Given the description of an element on the screen output the (x, y) to click on. 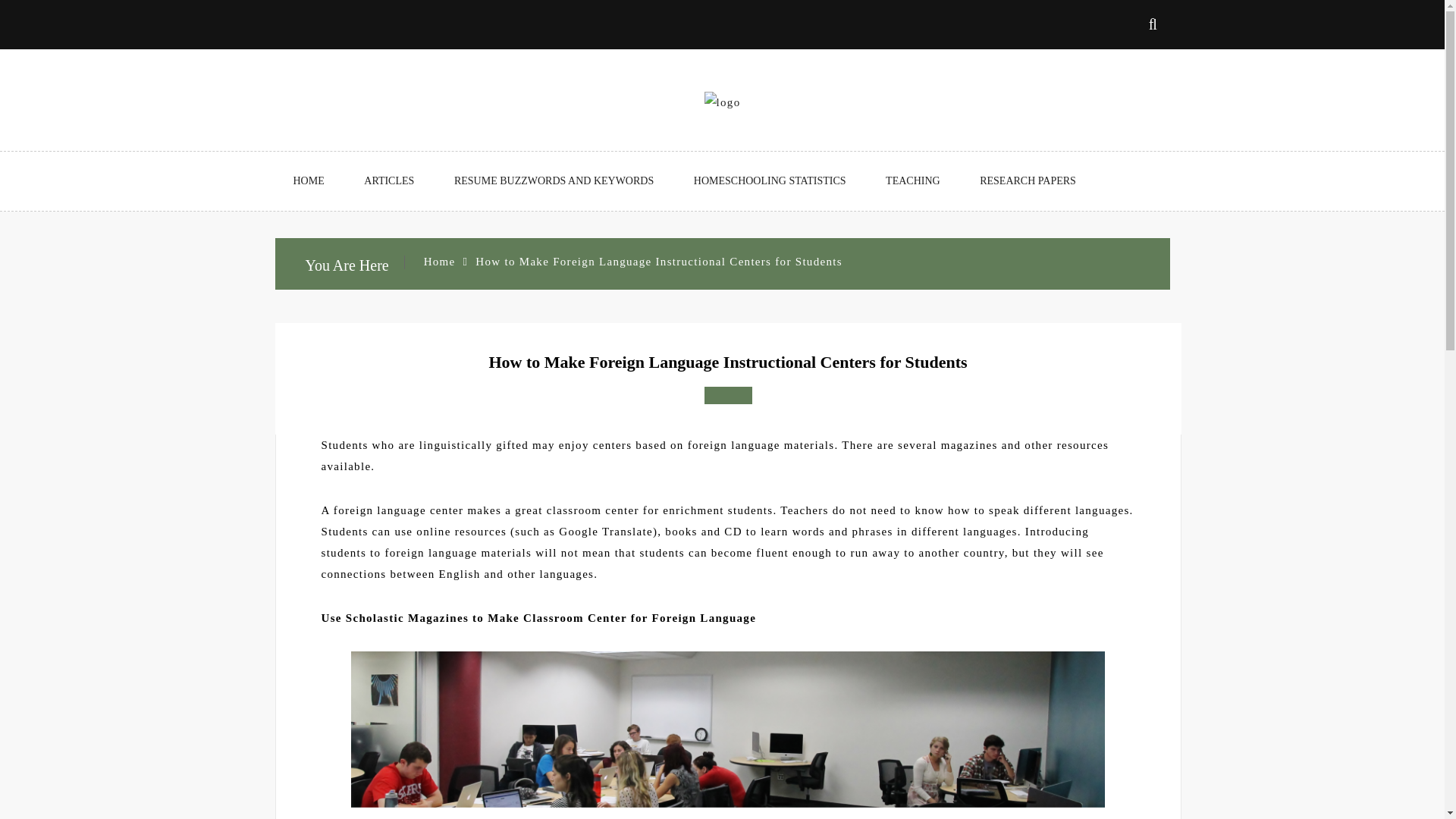
TEACHING (912, 180)
HOMESCHOOLING STATISTICS (769, 180)
RESUME BUZZWORDS AND KEYWORDS (553, 180)
ARTICLES (389, 180)
HOME (308, 180)
Home (439, 261)
RESEARCH PAPERS (1027, 180)
